Given the description of an element on the screen output the (x, y) to click on. 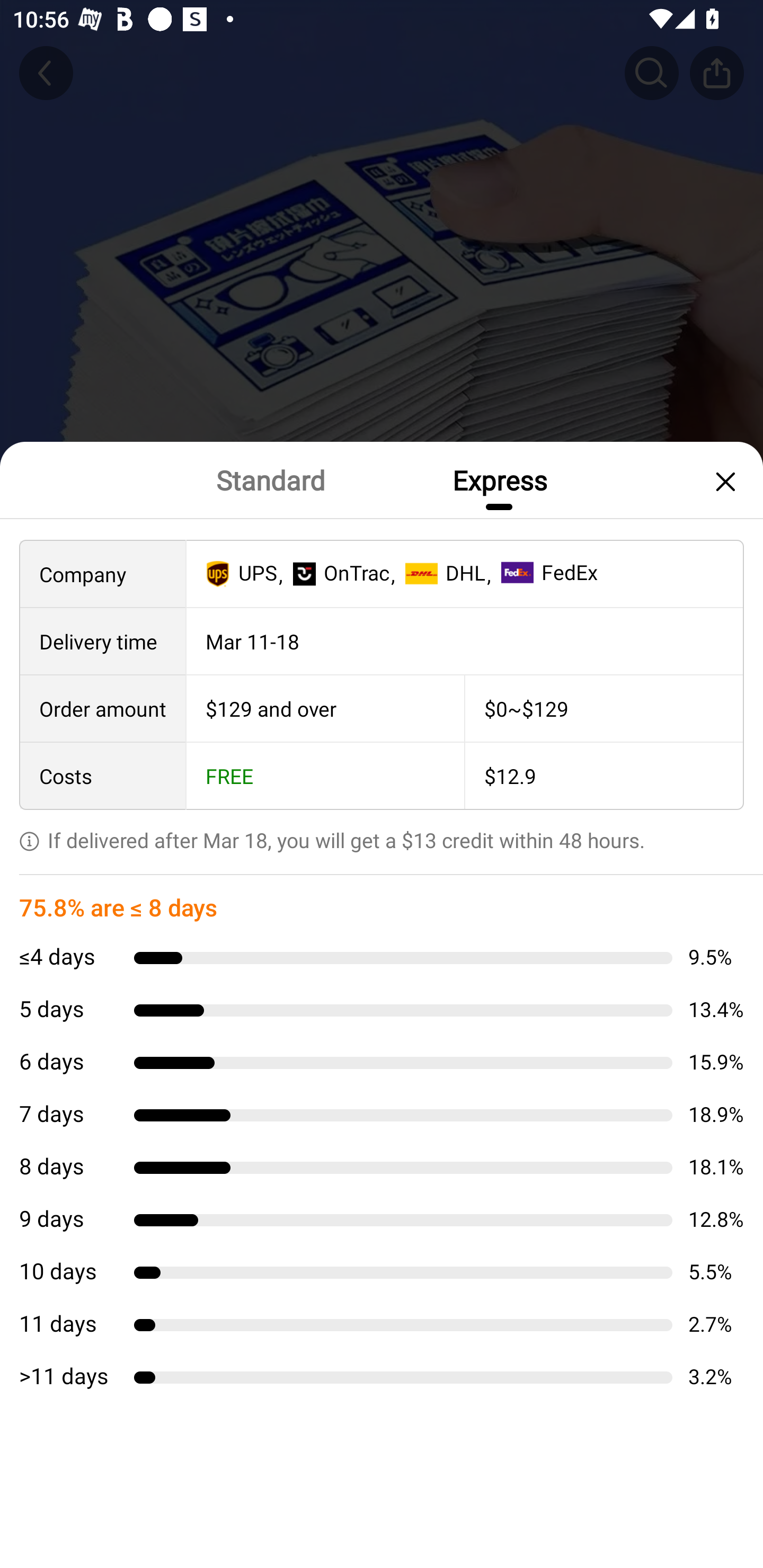
Standard (269, 479)
Express (499, 479)
close (723, 481)
Free shipping on all orders Exclusive offer (381, 836)
